Given the description of an element on the screen output the (x, y) to click on. 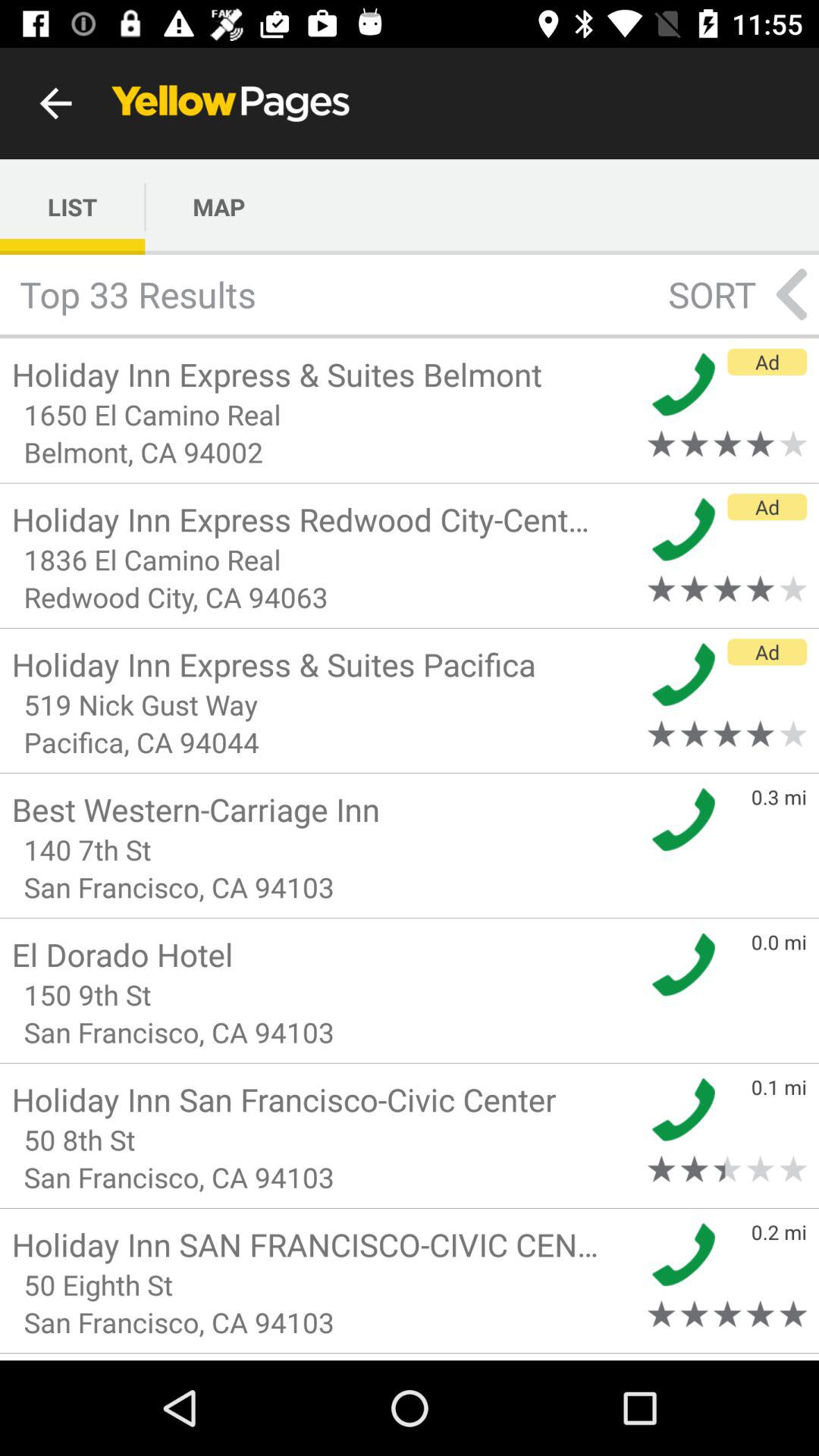
launch the list (72, 206)
